Given the description of an element on the screen output the (x, y) to click on. 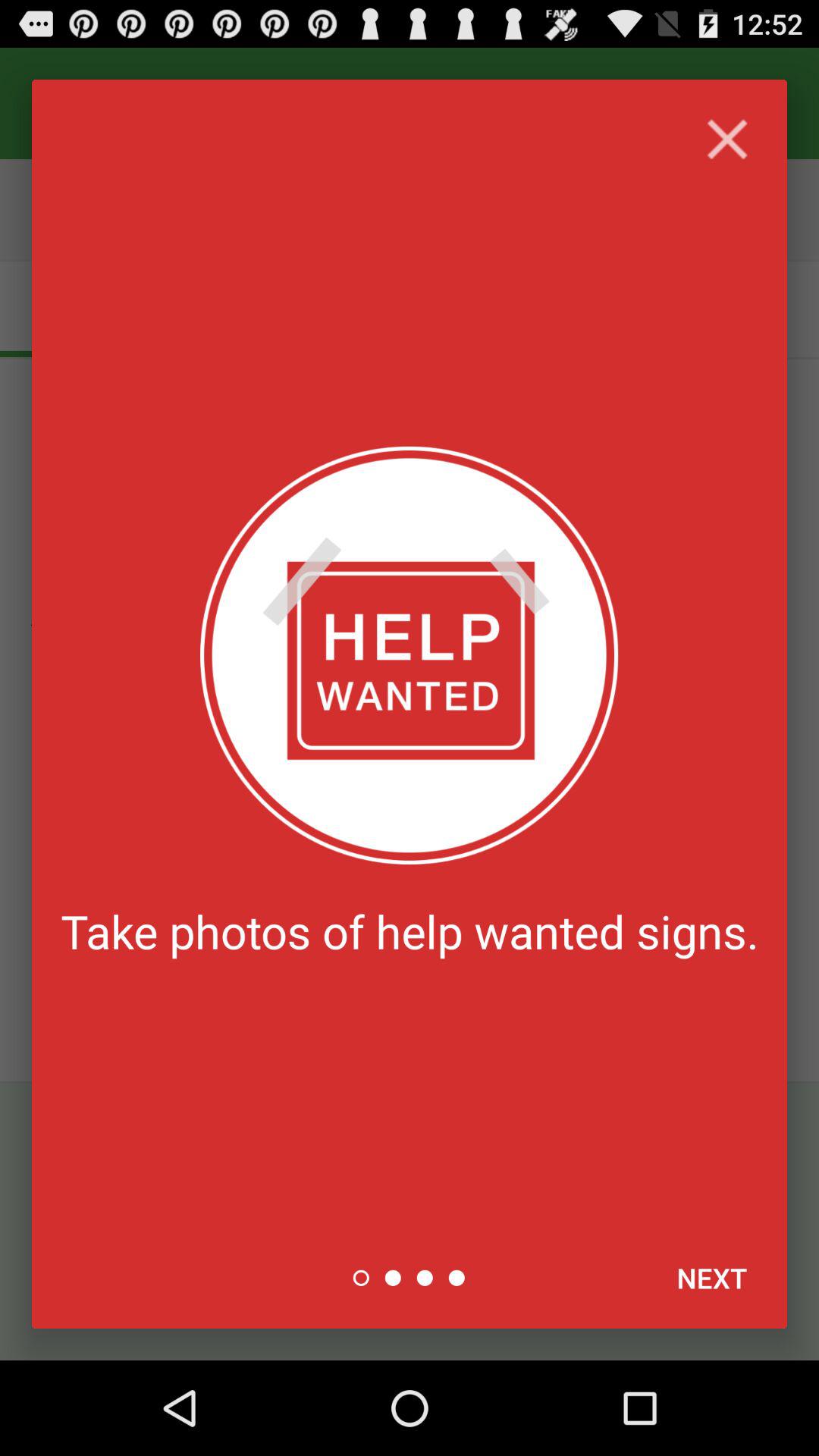
tap the next at the bottom right corner (711, 1277)
